Given the description of an element on the screen output the (x, y) to click on. 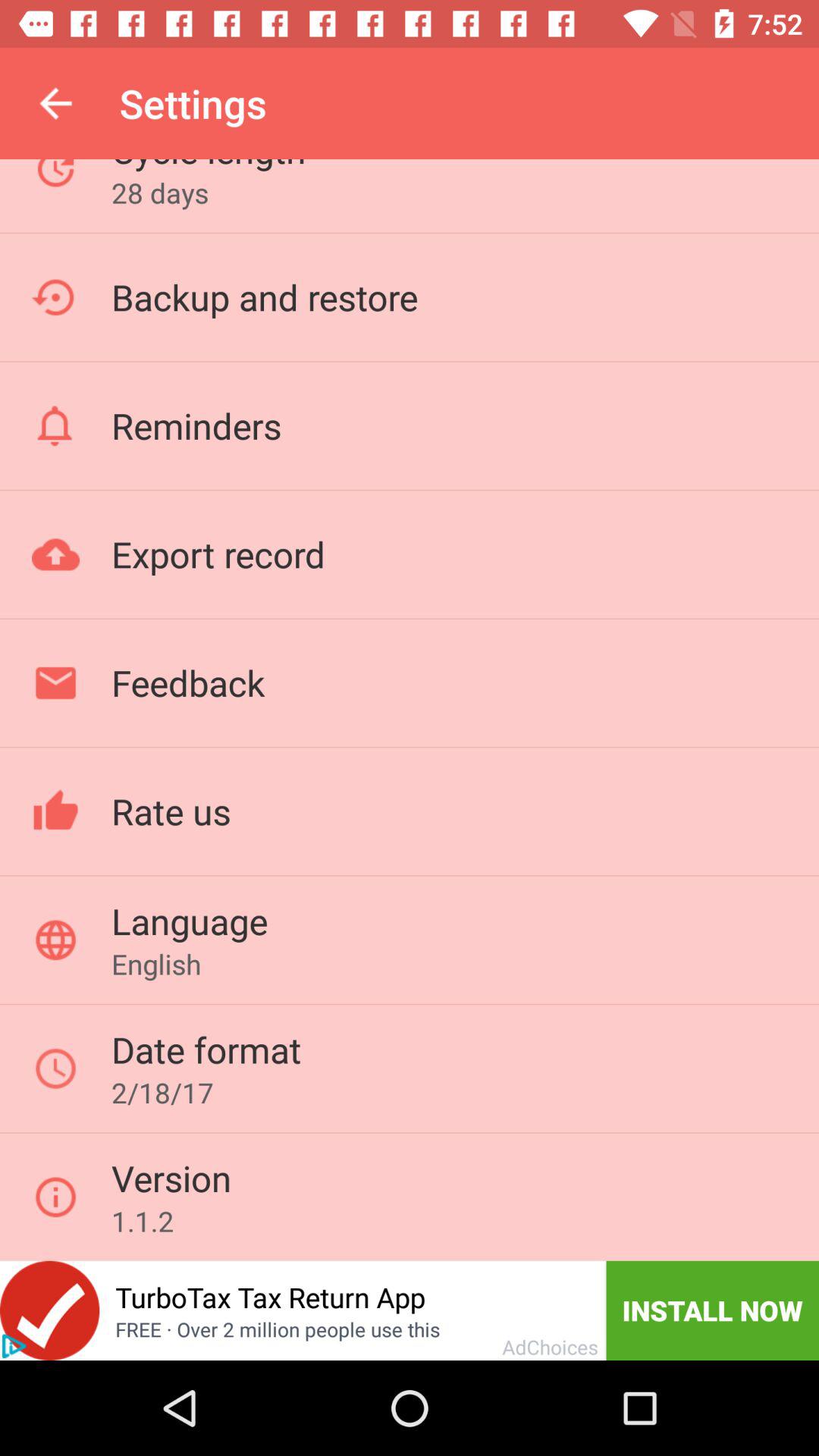
tap the item above the language item (170, 811)
